Given the description of an element on the screen output the (x, y) to click on. 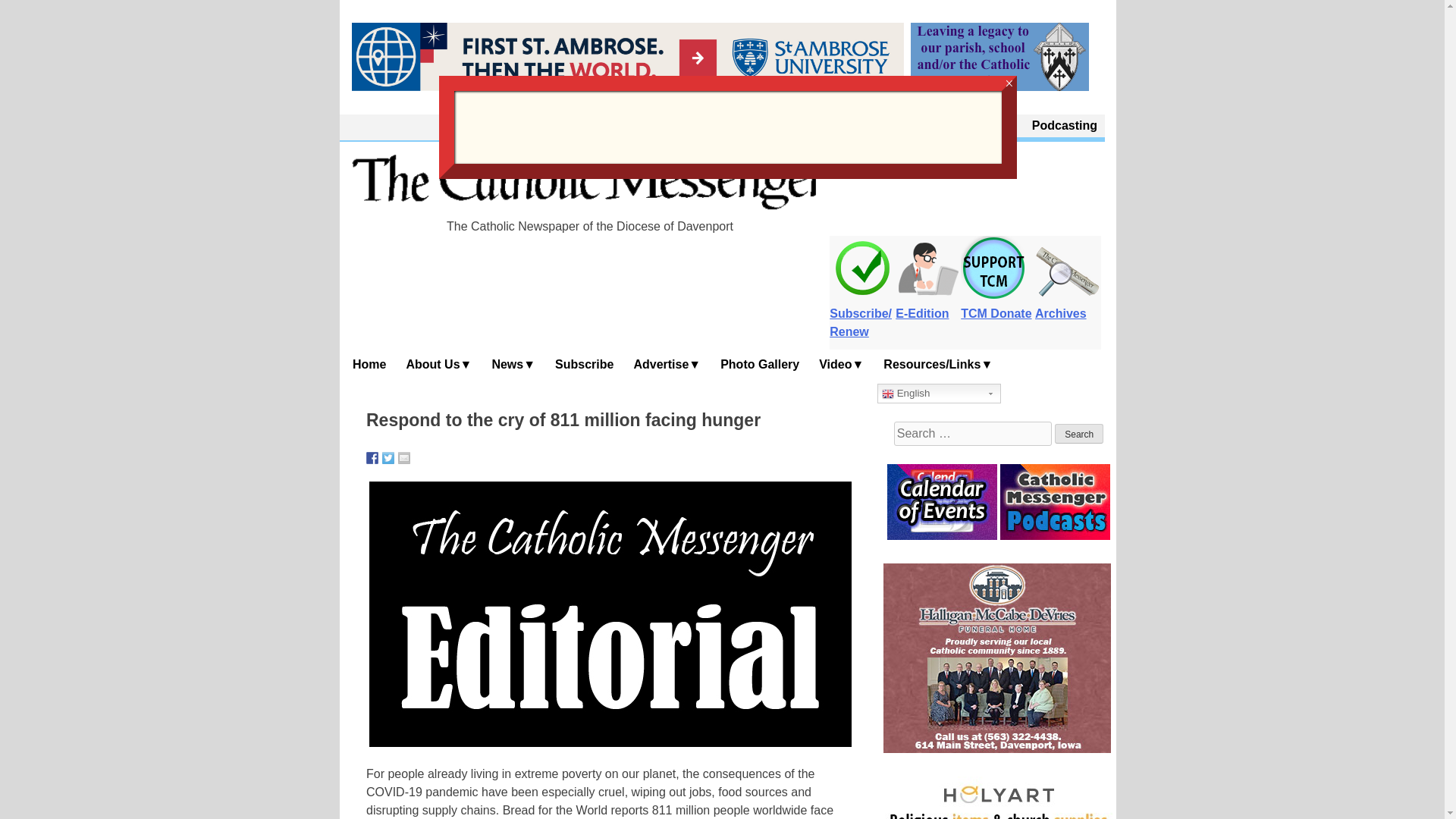
Archives (1067, 304)
Home (369, 363)
About Us (438, 363)
Share by email (403, 458)
TCM Donate (995, 304)
Subscribe (585, 363)
News (513, 363)
E-Edition (927, 304)
About Us (910, 125)
Search (1078, 433)
Advertise (668, 363)
Search (1078, 433)
Share on Twitter (387, 458)
Podcasting (1065, 125)
Contact Us (983, 125)
